Given the description of an element on the screen output the (x, y) to click on. 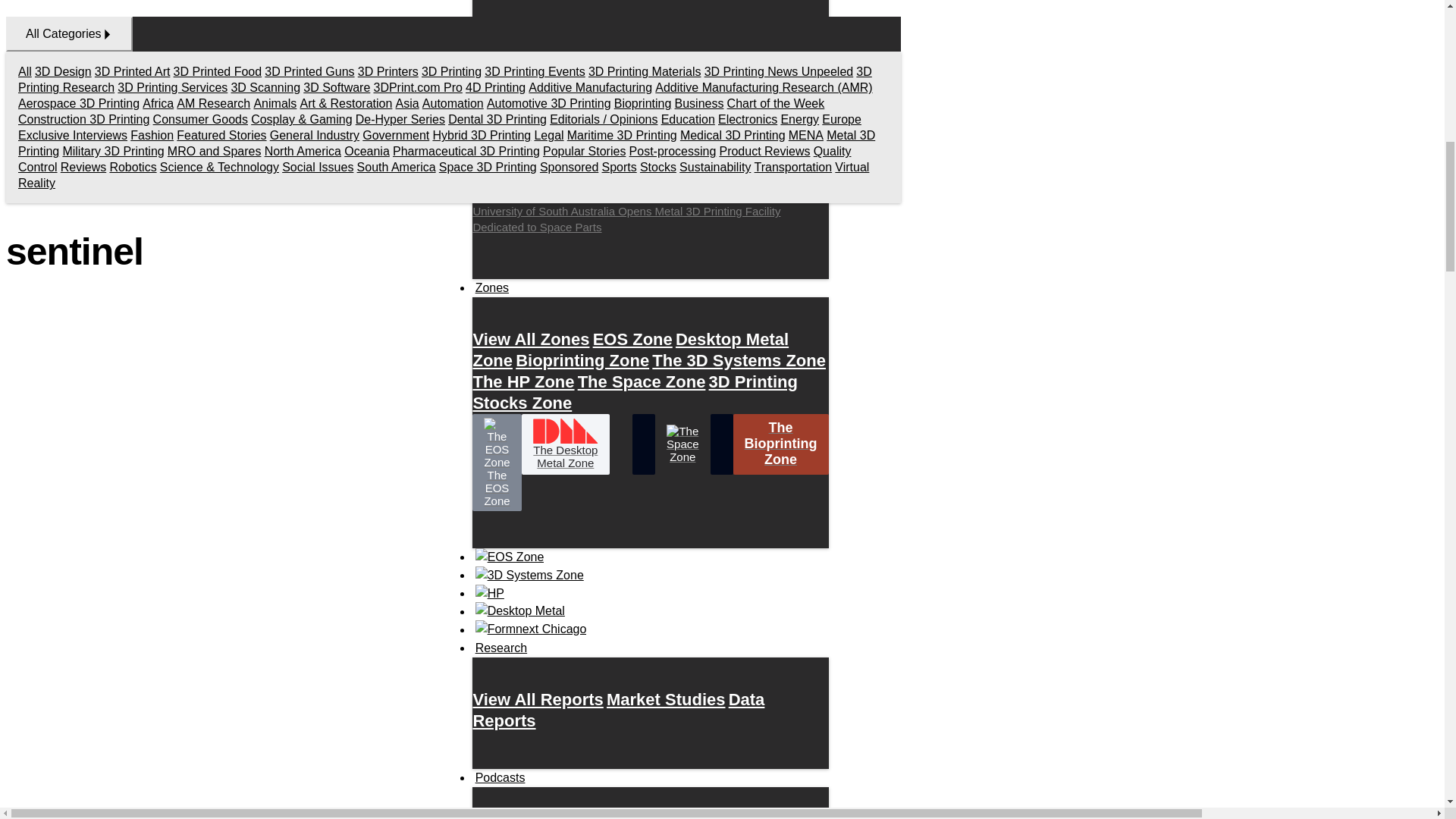
The Space Zone (642, 380)
The Bioprinting Zone (780, 444)
The EOS Zone (496, 462)
View All Zones (530, 338)
3D Printing Stocks Zone (633, 391)
The Desktop Metal Zone (565, 444)
Bioprinting Zone (582, 359)
The 3D Systems Zone (738, 359)
Desktop Metal Zone (630, 348)
Zones (491, 288)
EOS Zone (632, 338)
The HP Zone (522, 380)
